Given the description of an element on the screen output the (x, y) to click on. 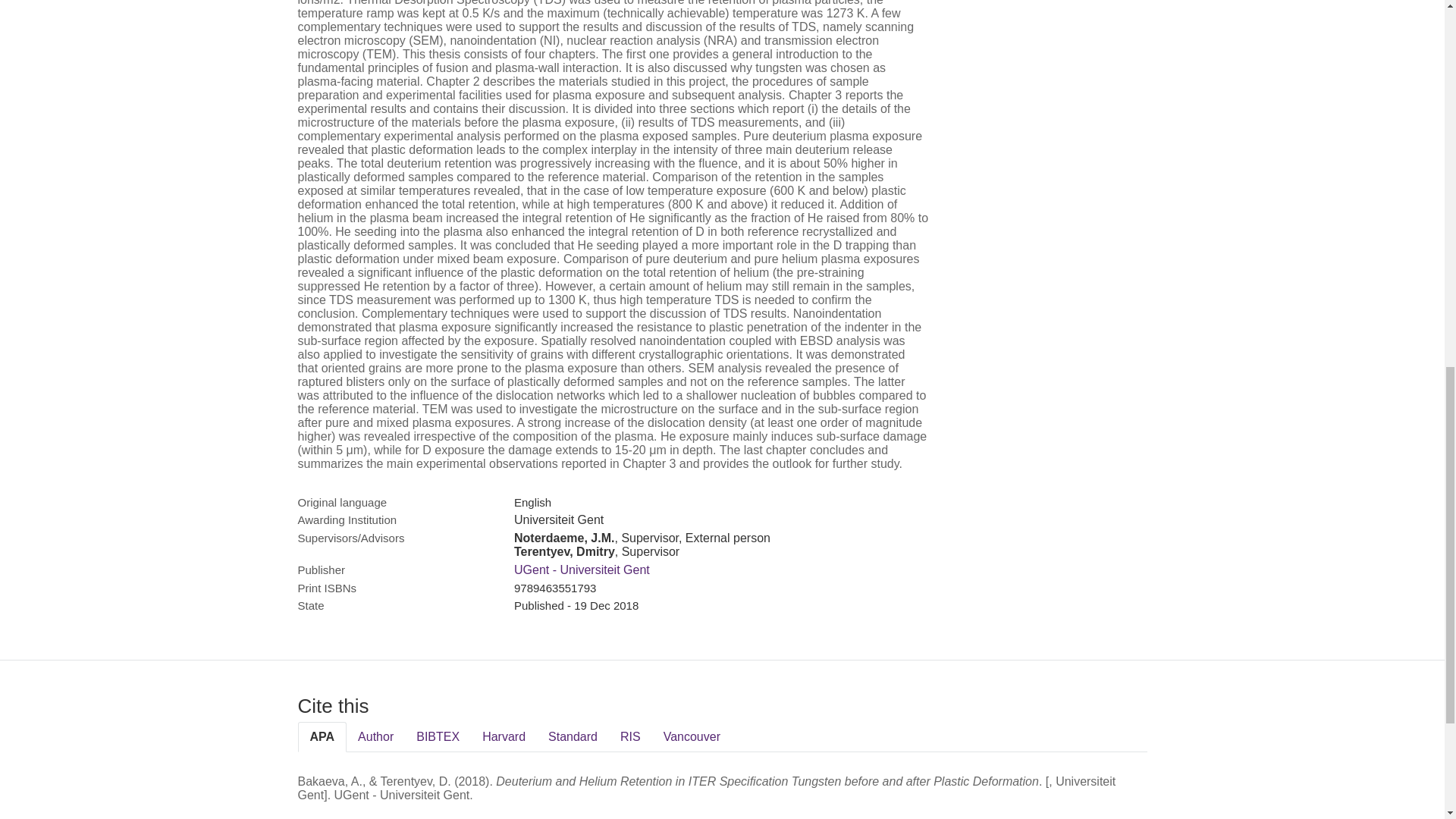
UGent - Universiteit Gent (581, 569)
